Given the description of an element on the screen output the (x, y) to click on. 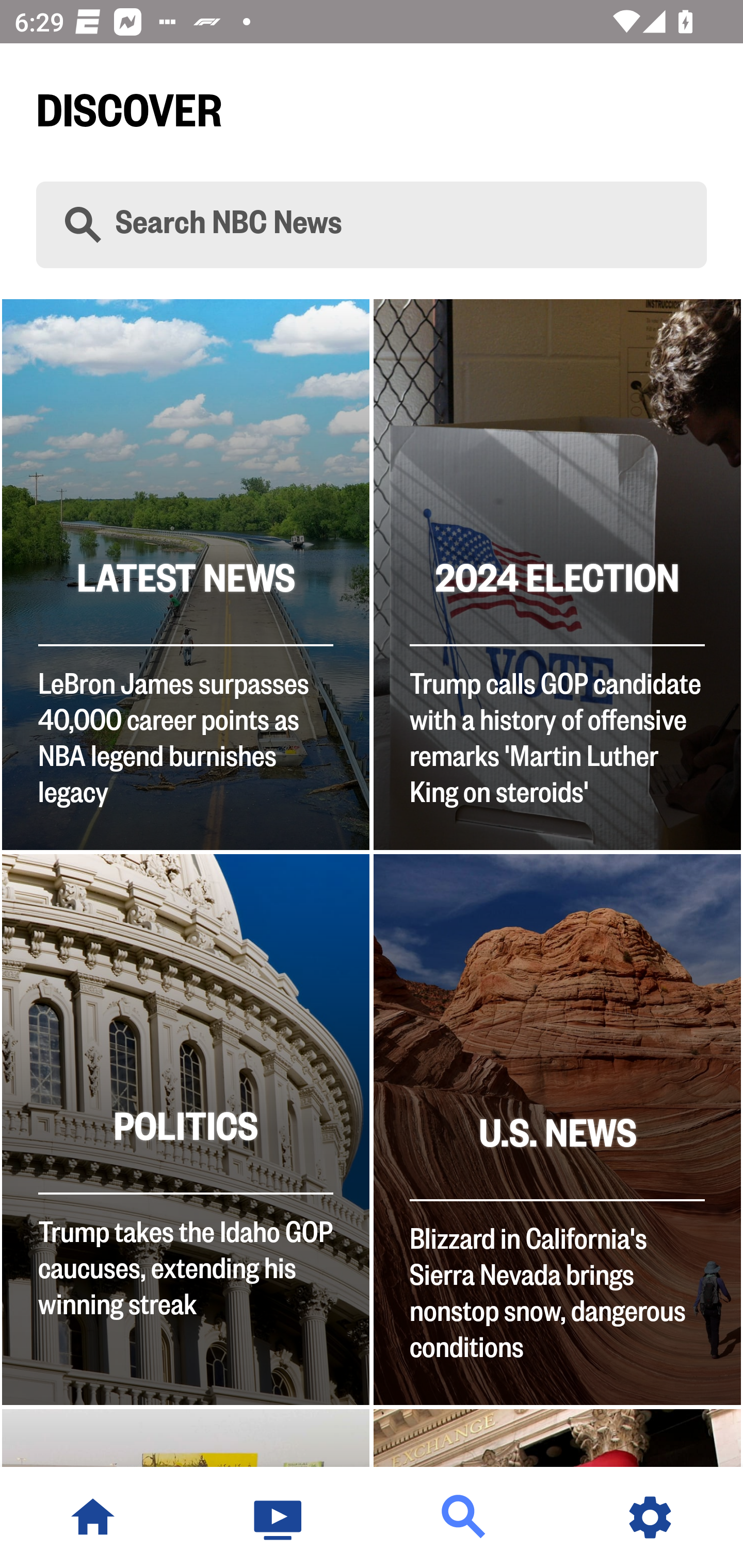
NBC News Home (92, 1517)
Watch (278, 1517)
Settings (650, 1517)
